Given the description of an element on the screen output the (x, y) to click on. 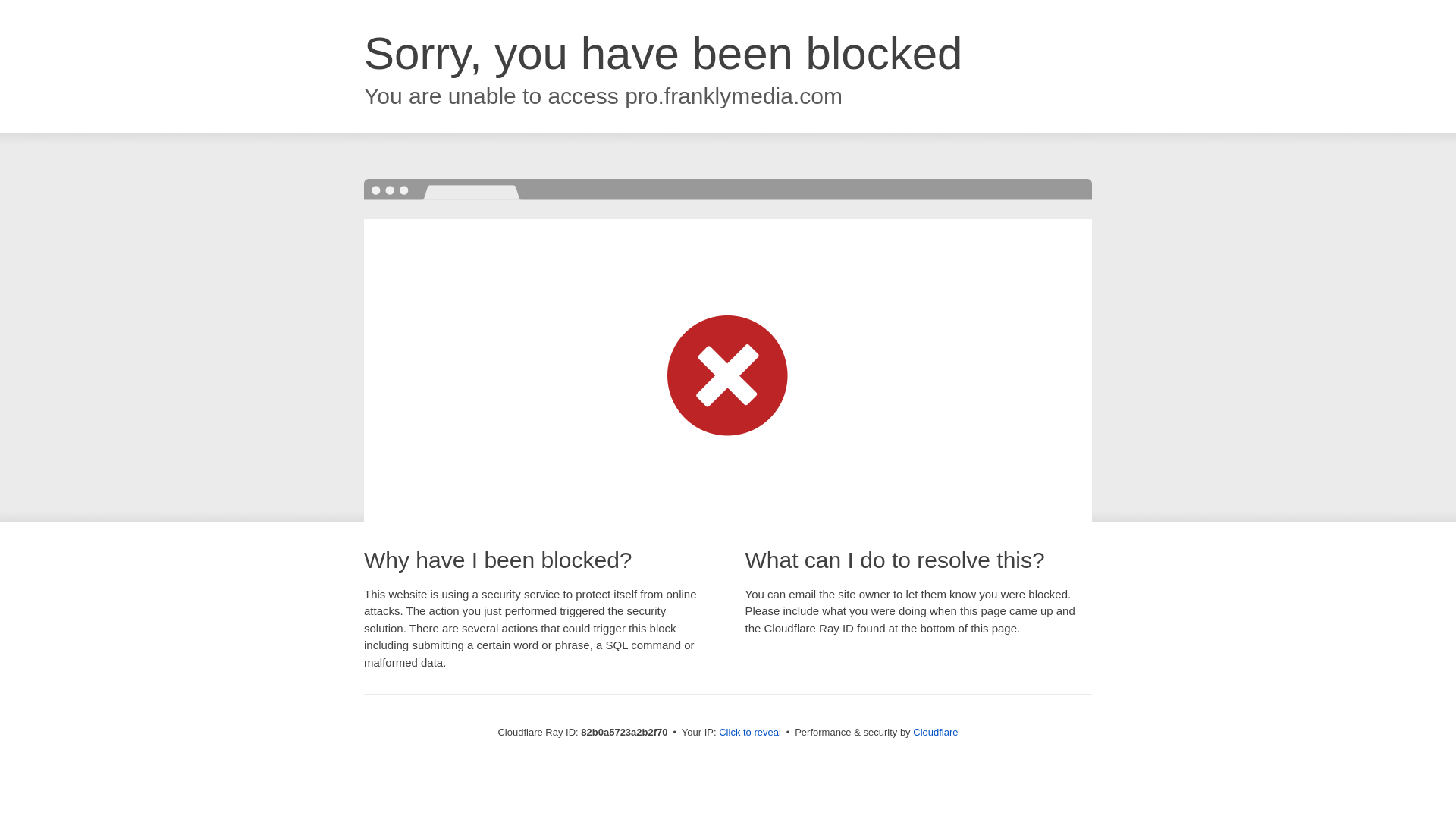
Click to reveal Element type: text (749, 732)
Cloudflare Element type: text (935, 731)
